Given the description of an element on the screen output the (x, y) to click on. 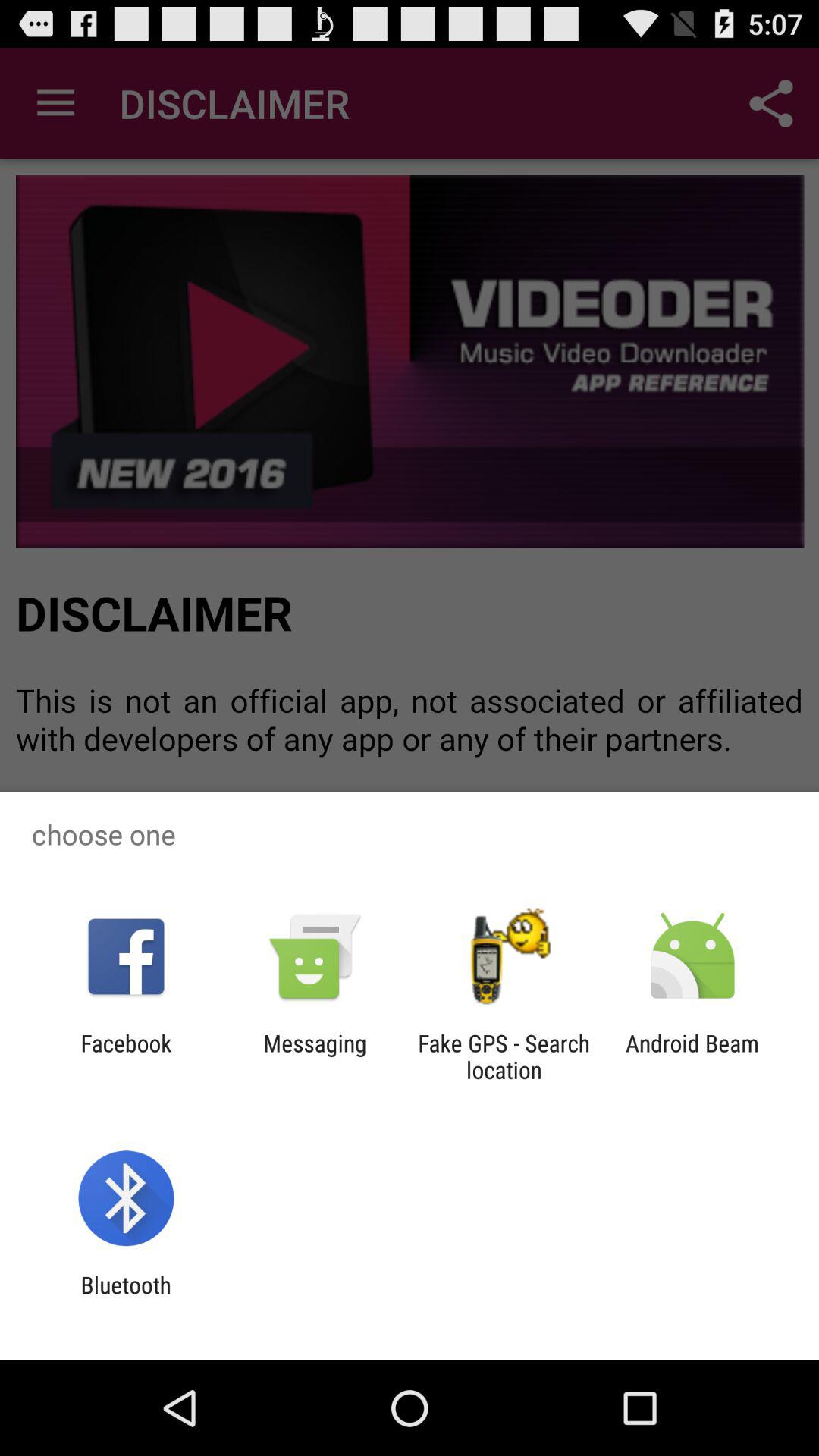
jump until android beam icon (692, 1056)
